Given the description of an element on the screen output the (x, y) to click on. 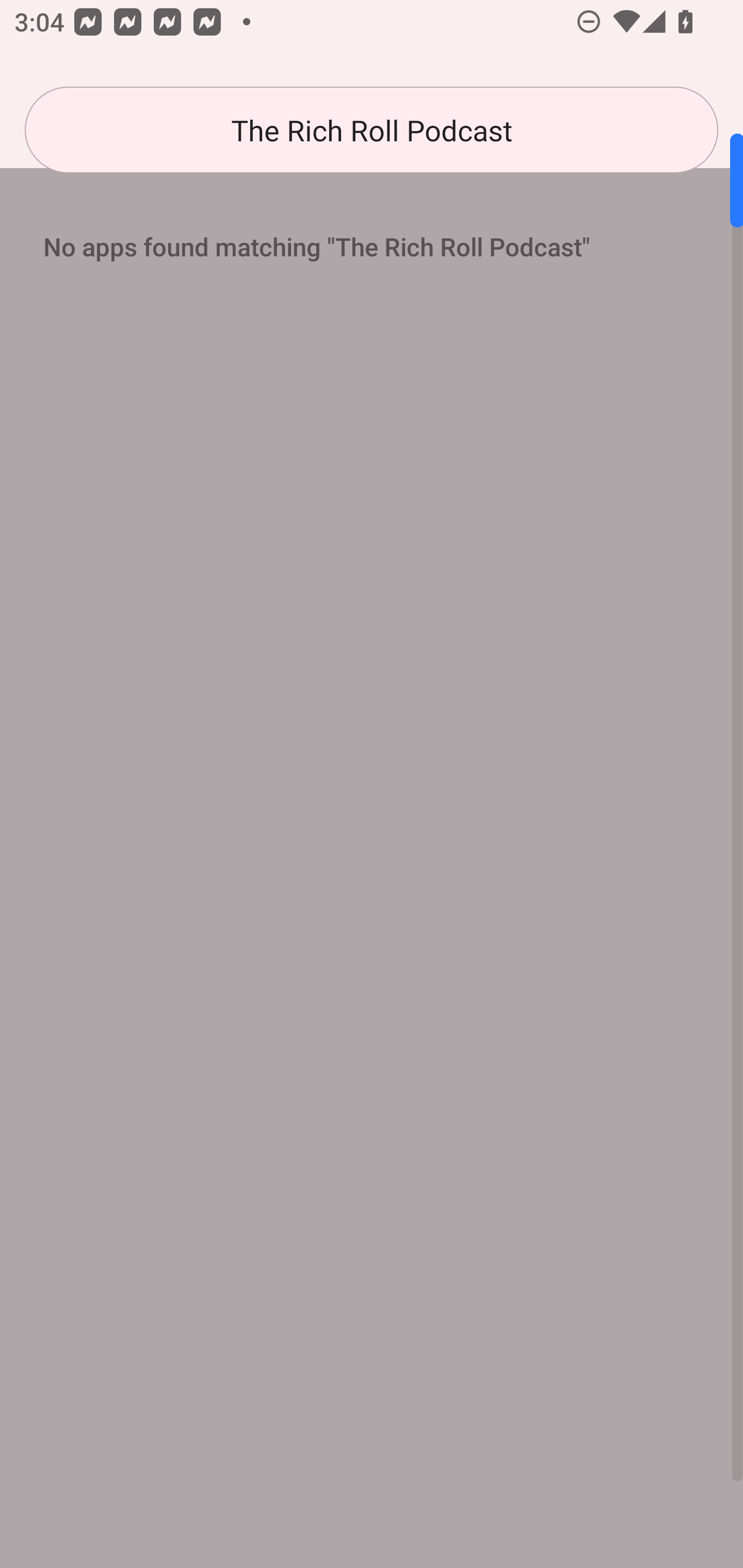
The Rich Roll Podcast (371, 130)
